Given the description of an element on the screen output the (x, y) to click on. 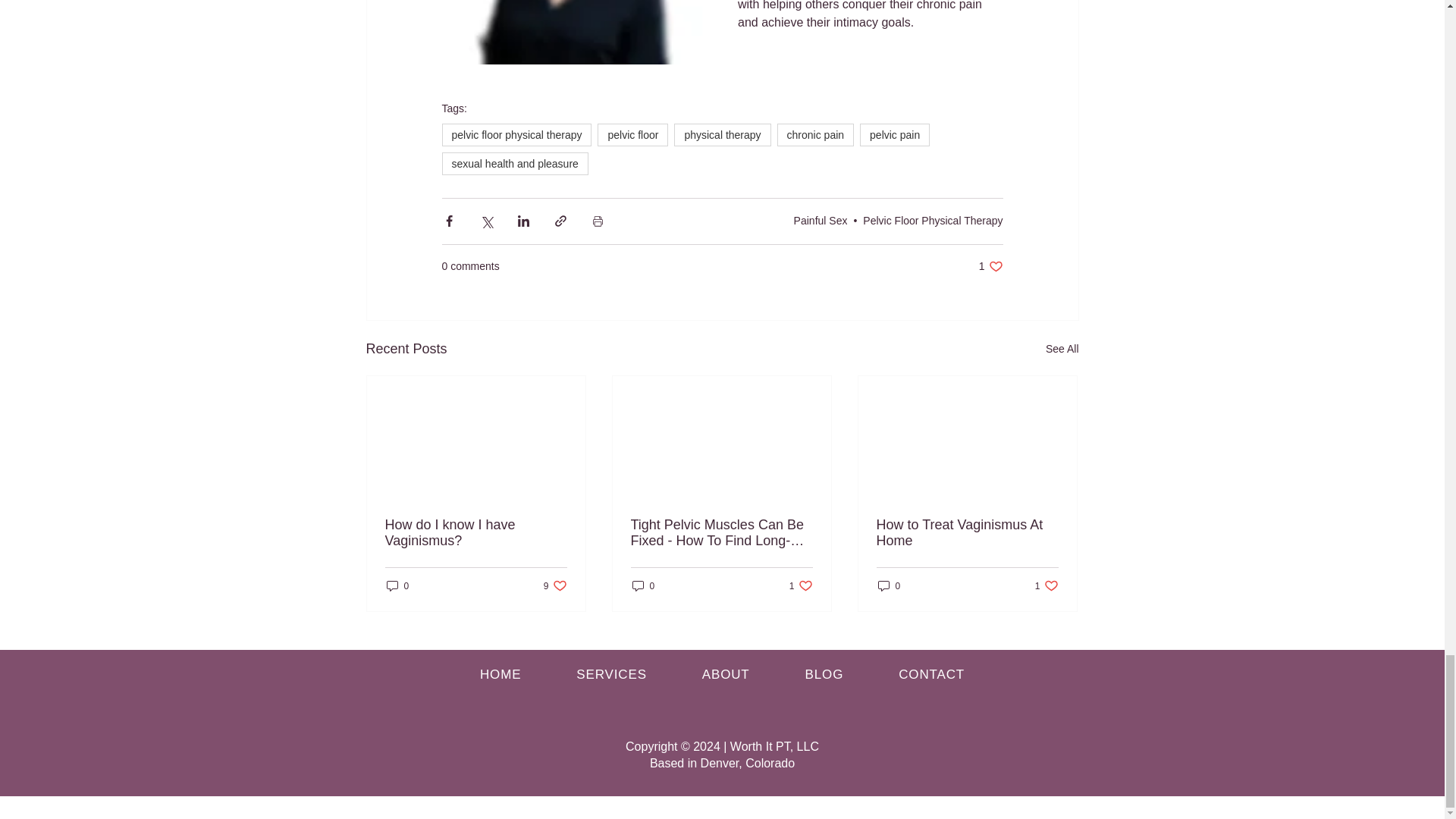
pelvic pain (895, 134)
sexual health and pleasure (514, 163)
physical therapy (722, 134)
pelvic floor (632, 134)
chronic pain (815, 134)
pelvic floor physical therapy (516, 134)
Painful Sex (820, 220)
